Given the description of an element on the screen output the (x, y) to click on. 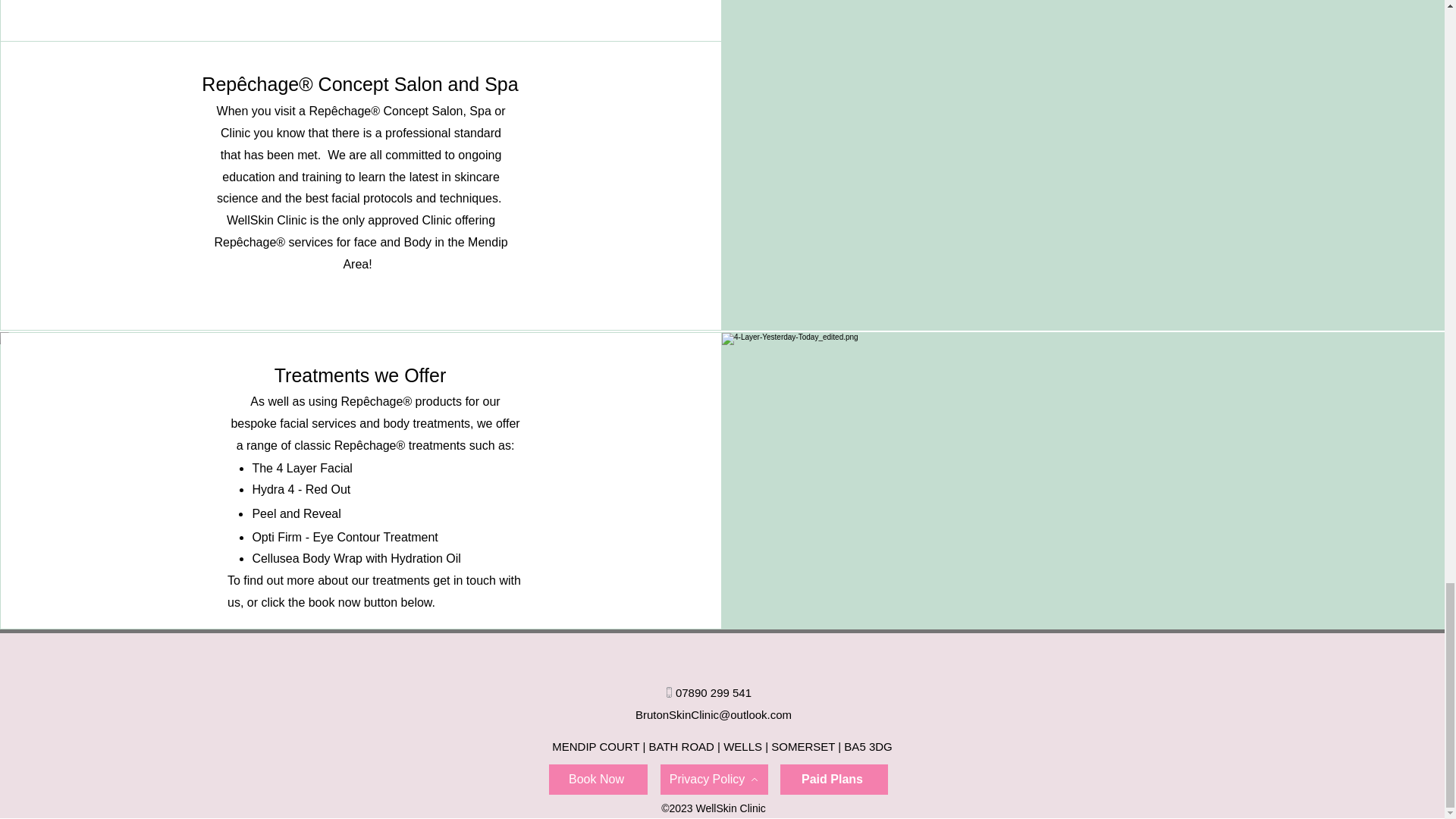
Paid Plans (832, 779)
Privacy Policy (713, 779)
Book Now (597, 779)
